Given the description of an element on the screen output the (x, y) to click on. 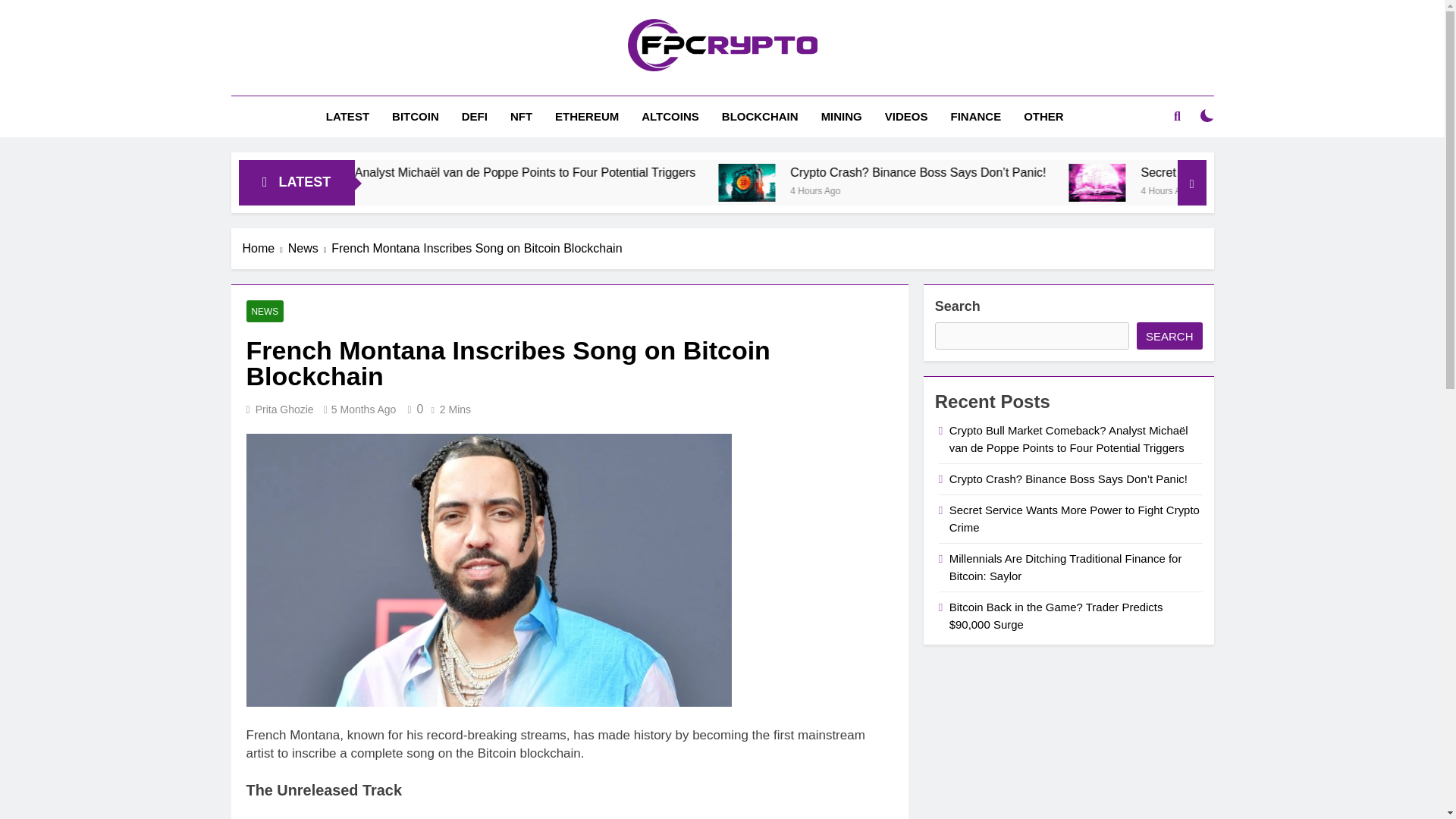
4 Hours Ago (429, 189)
4 Hours Ago (1029, 189)
OTHER (1043, 116)
DEFI (474, 116)
ALTCOINS (670, 116)
ETHEREUM (586, 116)
FINANCE (975, 116)
NFT (521, 116)
BITCOIN (414, 116)
MINING (841, 116)
VIDEOS (906, 116)
BLOCKCHAIN (759, 116)
on (1206, 115)
LATEST (347, 116)
Fast Pay Crypto (599, 93)
